Given the description of an element on the screen output the (x, y) to click on. 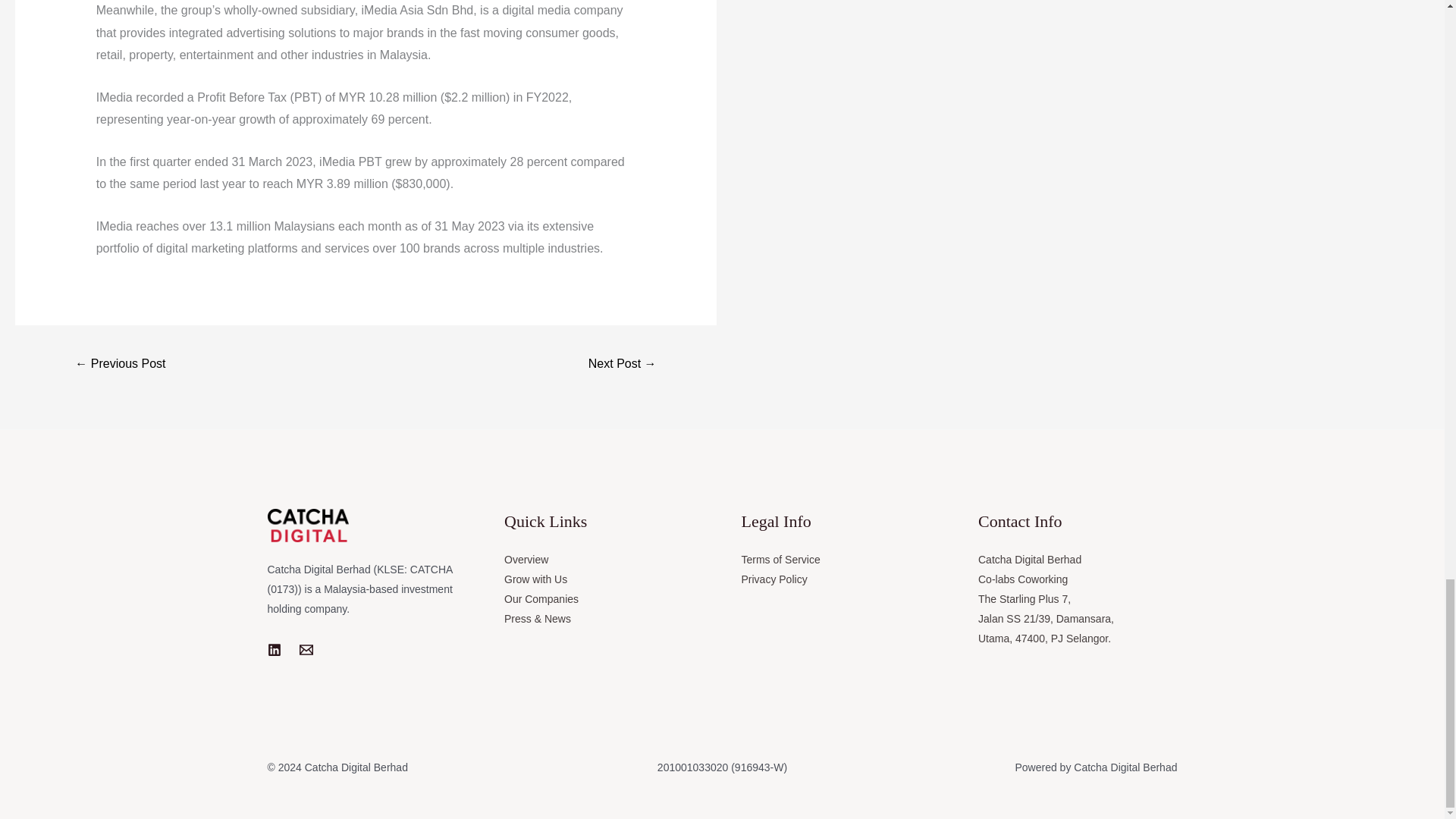
Our Companies (540, 598)
Terms of Service (781, 559)
Grow with Us (535, 579)
Privacy Policy (774, 579)
Overview (525, 559)
